Given the description of an element on the screen output the (x, y) to click on. 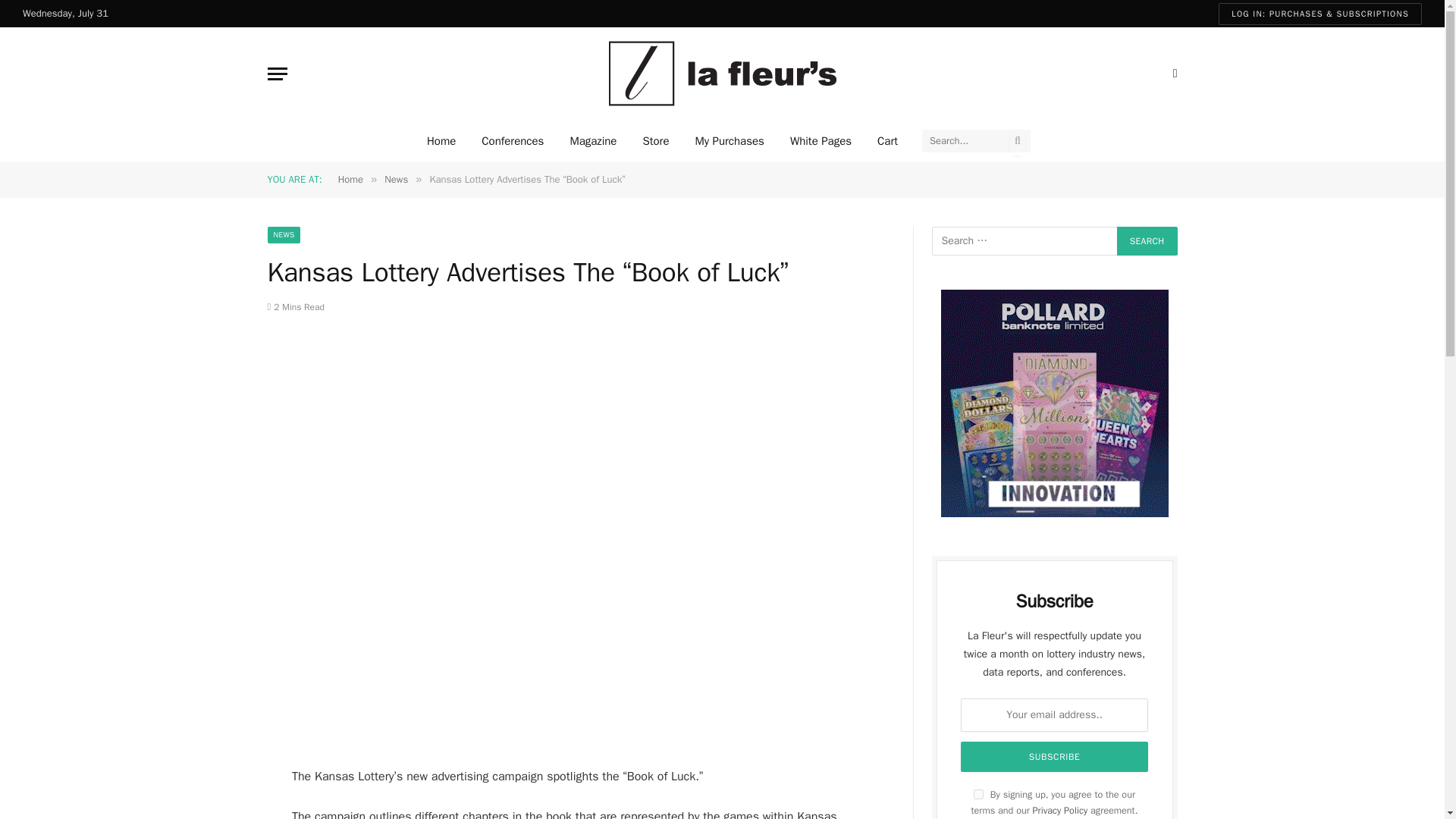
Conferences (512, 140)
Subscribe (1053, 757)
Store (654, 140)
White Pages (820, 140)
Magazine (592, 140)
Search (1146, 240)
on (979, 794)
Search (1146, 240)
News (395, 178)
Home (440, 140)
Cart (887, 140)
Privacy Policy (1059, 810)
Subscribe (1053, 757)
My Purchases (728, 140)
NEWS (282, 234)
